Given the description of an element on the screen output the (x, y) to click on. 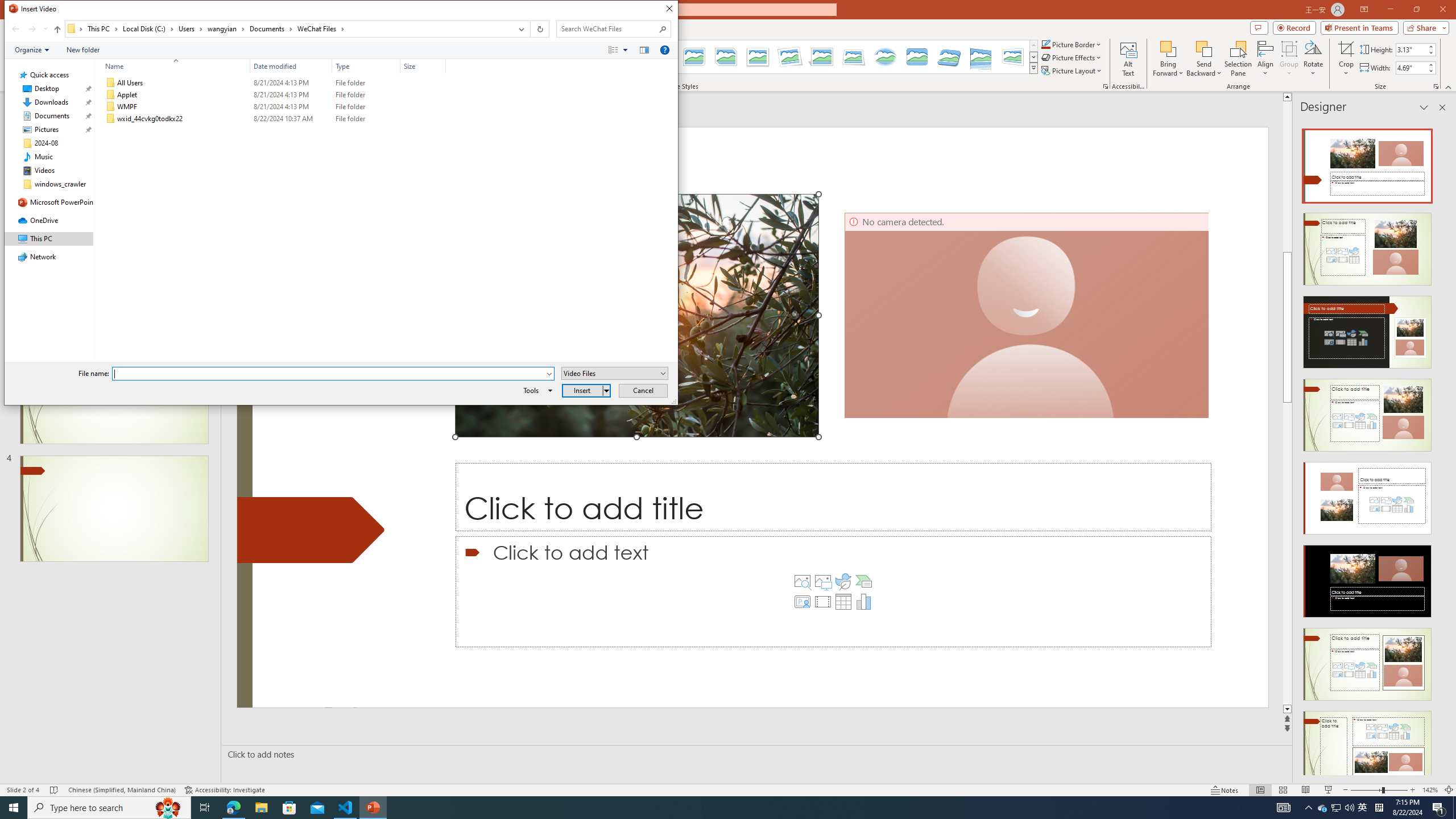
File name: (333, 373)
Picture Effects (1072, 56)
Class: UIImage (111, 119)
New folder (82, 49)
Insert Chart (863, 601)
Moderate Frame, White (758, 56)
